Given the description of an element on the screen output the (x, y) to click on. 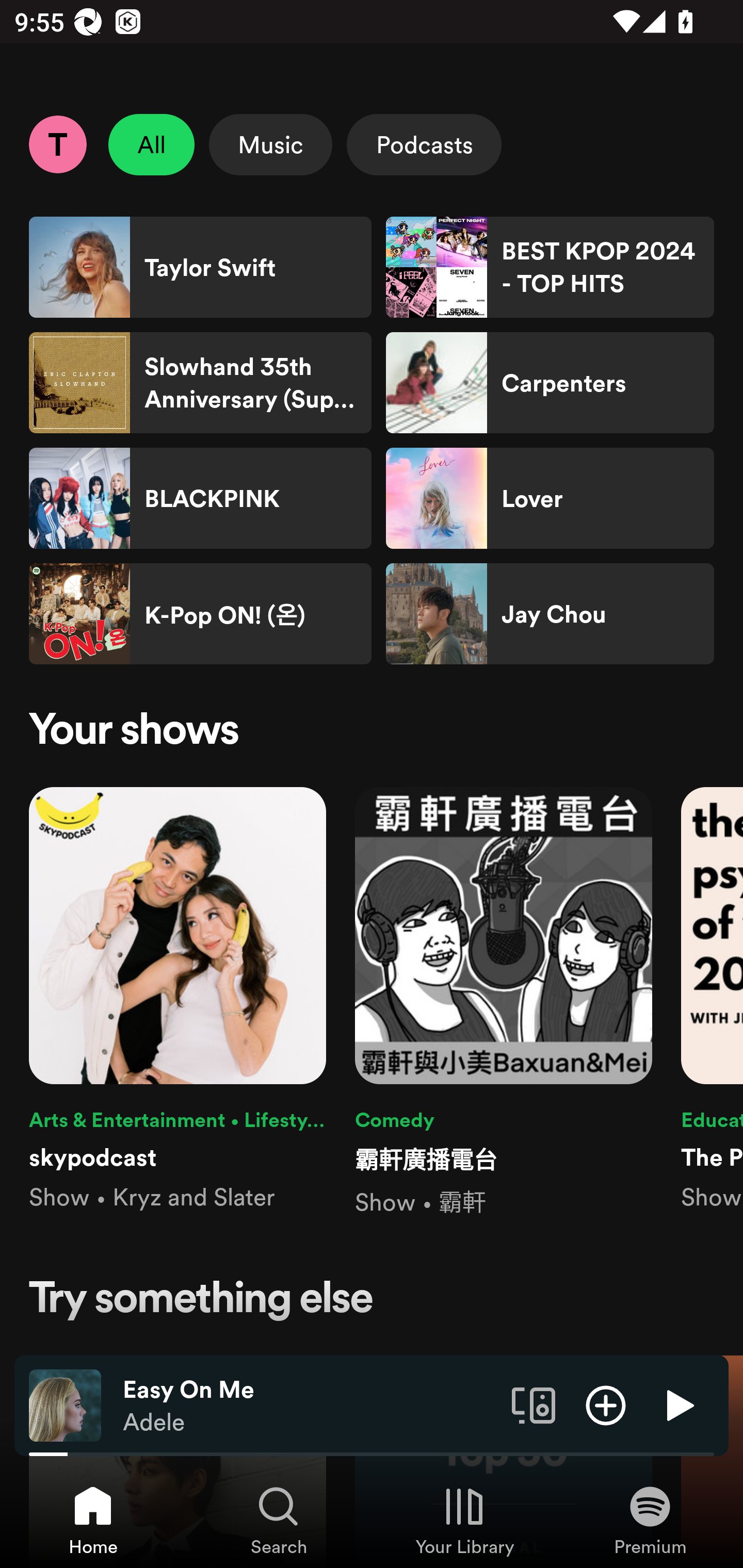
Profile (57, 144)
All Unselect All (151, 144)
Music Select Music (270, 144)
Podcasts Select Podcasts (423, 144)
Taylor Swift Shortcut Taylor Swift (199, 267)
Carpenters Shortcut Carpenters (549, 382)
BLACKPINK Shortcut BLACKPINK (199, 498)
Lover Shortcut Lover (549, 498)
K-Pop ON! (온) Shortcut K-Pop ON! (온) (199, 613)
Jay Chou Shortcut Jay Chou (549, 613)
Comedy 霸軒廣播電台 Show • 霸軒 (503, 1002)
Easy On Me Adele (309, 1405)
The cover art of the currently playing track (64, 1404)
Connect to a device. Opens the devices menu (533, 1404)
Add item (605, 1404)
Play (677, 1404)
Home, Tab 1 of 4 Home Home (92, 1519)
Search, Tab 2 of 4 Search Search (278, 1519)
Your Library, Tab 3 of 4 Your Library Your Library (464, 1519)
Premium, Tab 4 of 4 Premium Premium (650, 1519)
